Given the description of an element on the screen output the (x, y) to click on. 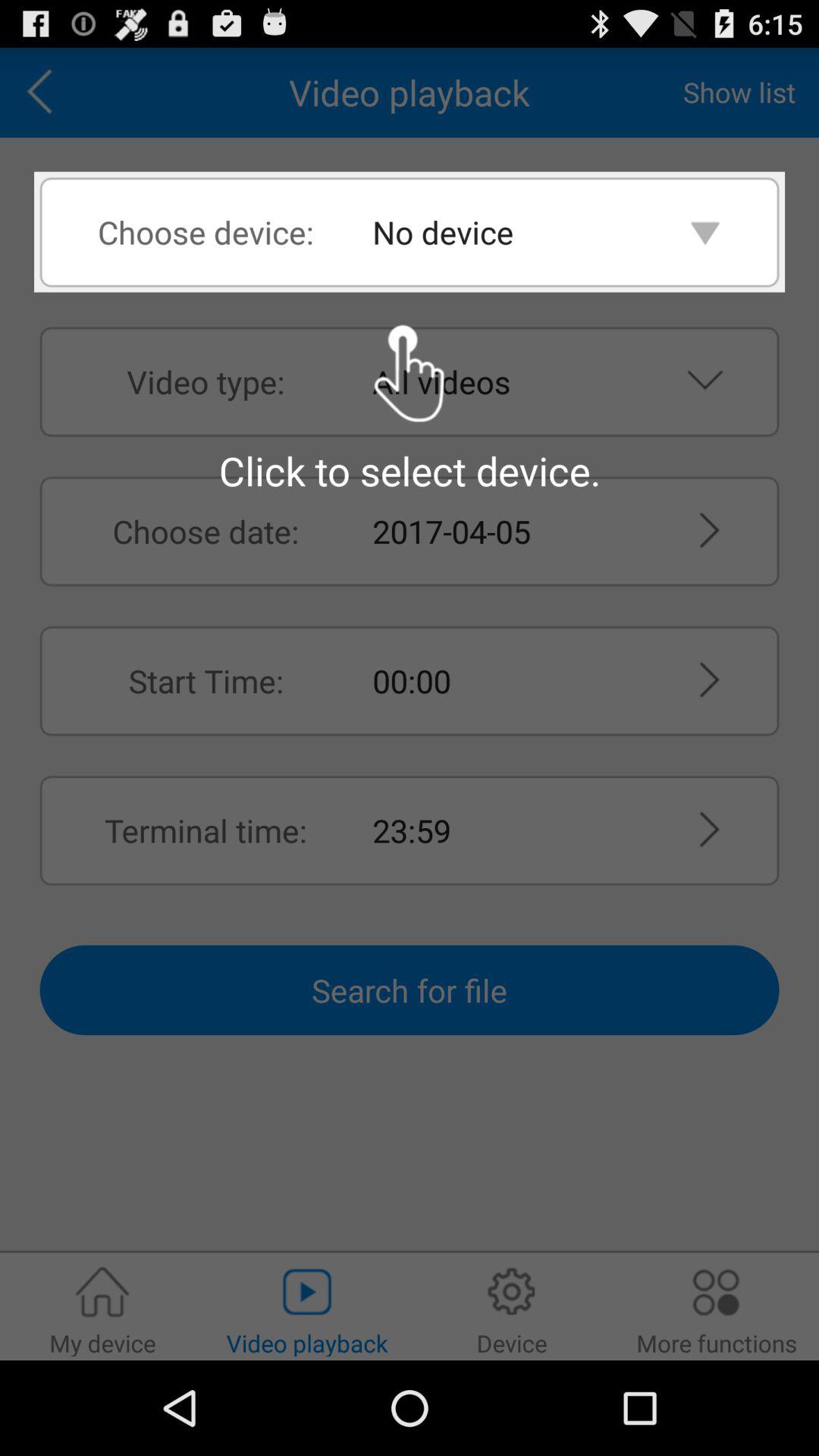
tap app below the terminal time: (409, 990)
